Given the description of an element on the screen output the (x, y) to click on. 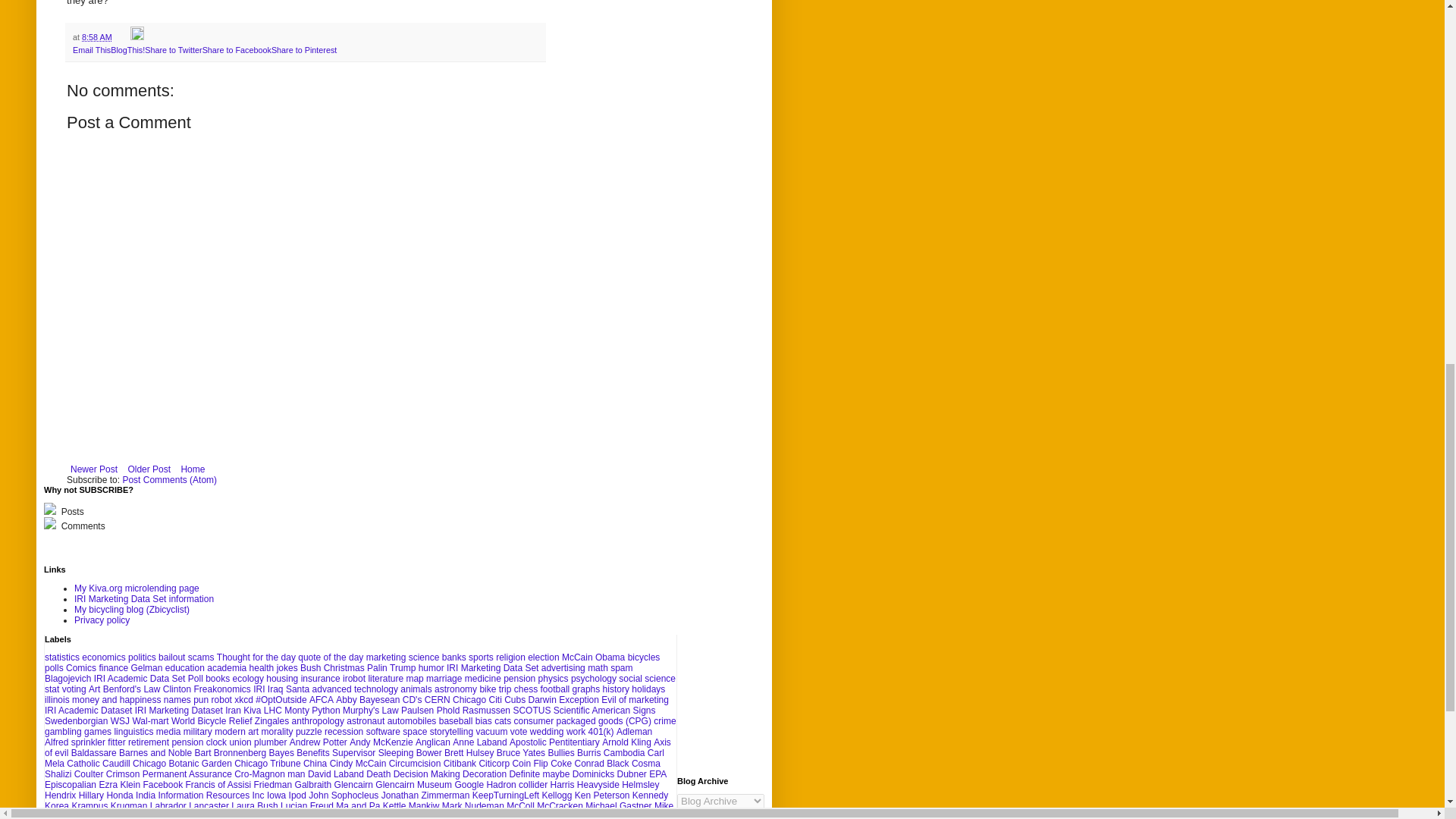
science (424, 656)
Older Post (148, 469)
bailout (171, 656)
Email This (91, 49)
marketing (386, 656)
economics (103, 656)
Newer Post (93, 469)
Share to Twitter (173, 49)
politics (141, 656)
Share to Twitter (173, 49)
Share to Pinterest (303, 49)
statistics (62, 656)
Share to Facebook (236, 49)
quote of the day (330, 656)
Edit Post (137, 36)
